Given the description of an element on the screen output the (x, y) to click on. 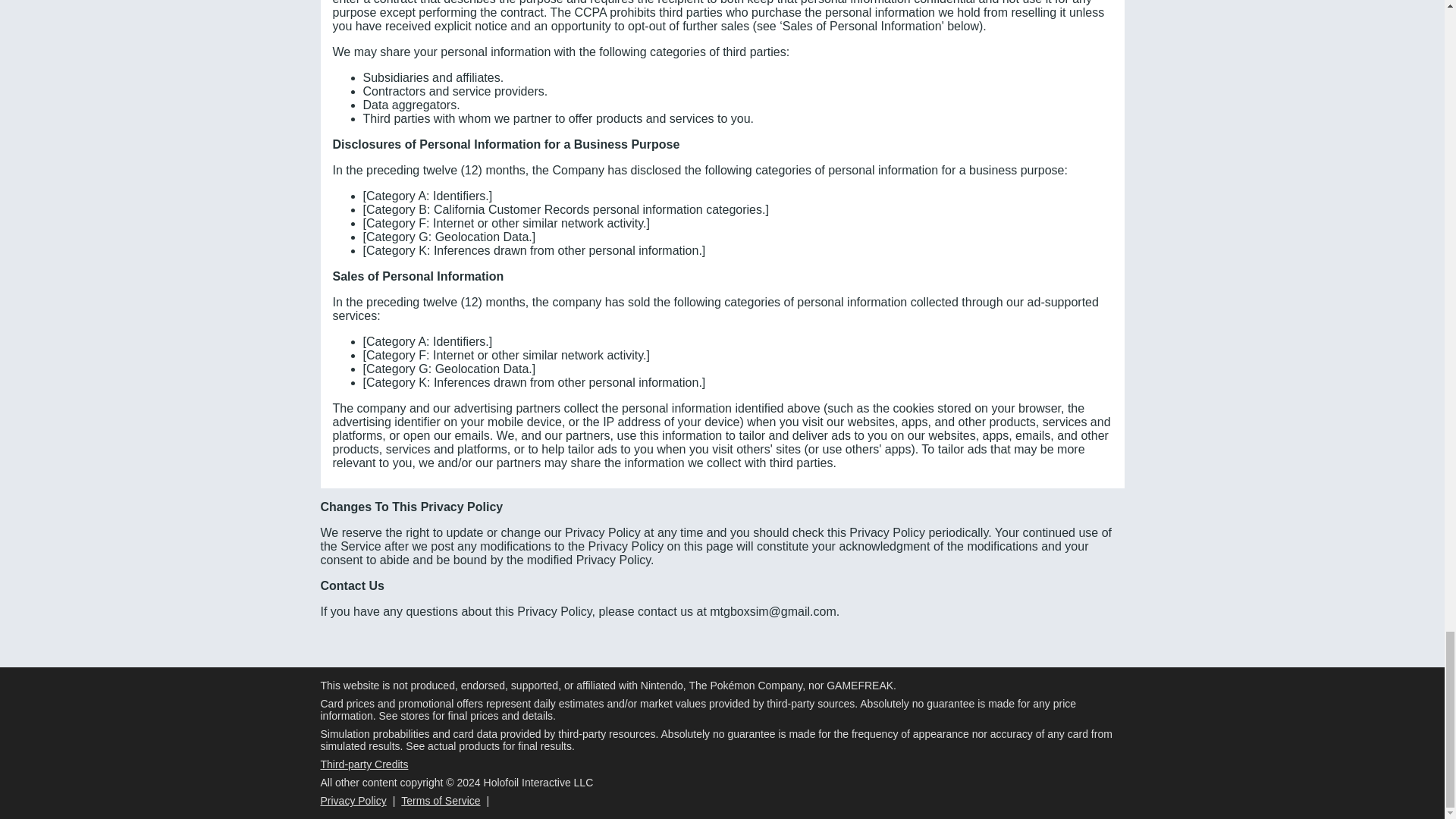
Third-party Credits (363, 764)
Privacy Policy (352, 800)
Terms of Service (440, 800)
